Given the description of an element on the screen output the (x, y) to click on. 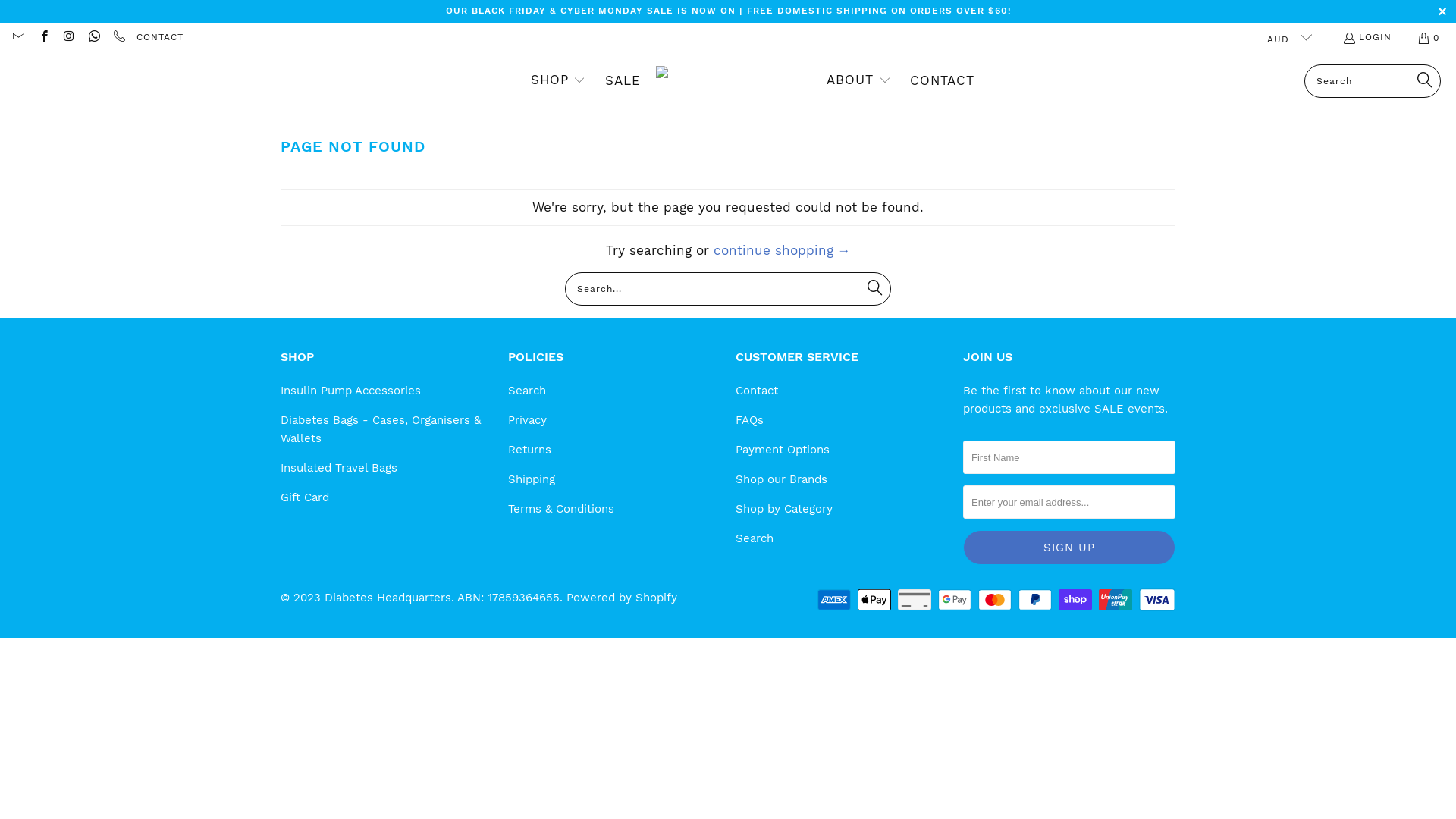
AUD Element type: text (1282, 37)
Terms & Conditions Element type: text (561, 508)
Insulated Travel Bags Element type: text (338, 467)
Shipping Element type: text (531, 479)
Diabetes Headquarters on Phone Element type: hover (118, 37)
Email Diabetes Headquarters Element type: hover (17, 37)
Sign Up Element type: text (1069, 547)
LOGIN Element type: text (1366, 37)
CONTACT Element type: text (942, 80)
Insulin Pump Accessories Element type: text (350, 390)
Search Element type: text (527, 390)
Diabetes Headquarters Element type: text (387, 597)
Privacy Element type: text (527, 419)
FAQs Element type: text (749, 419)
Gift Card Element type: text (304, 497)
SALE Element type: text (622, 80)
Shop by Category Element type: text (783, 508)
Diabetes Headquarters on Instagram Element type: hover (68, 37)
Diabetes Headquarters on WhatsApp Element type: hover (93, 37)
Search Element type: text (754, 538)
Shop our Brands Element type: text (781, 479)
Diabetes Bags - Cases, Organisers & Wallets Element type: text (380, 429)
Powered by Shopify Element type: text (621, 597)
CONTACT Element type: text (159, 37)
Returns Element type: text (529, 449)
Diabetes Headquarters on Facebook Element type: hover (42, 37)
Diabetes Headquarters Element type: hover (733, 80)
Payment Options Element type: text (782, 449)
Contact Element type: text (756, 390)
